Given the description of an element on the screen output the (x, y) to click on. 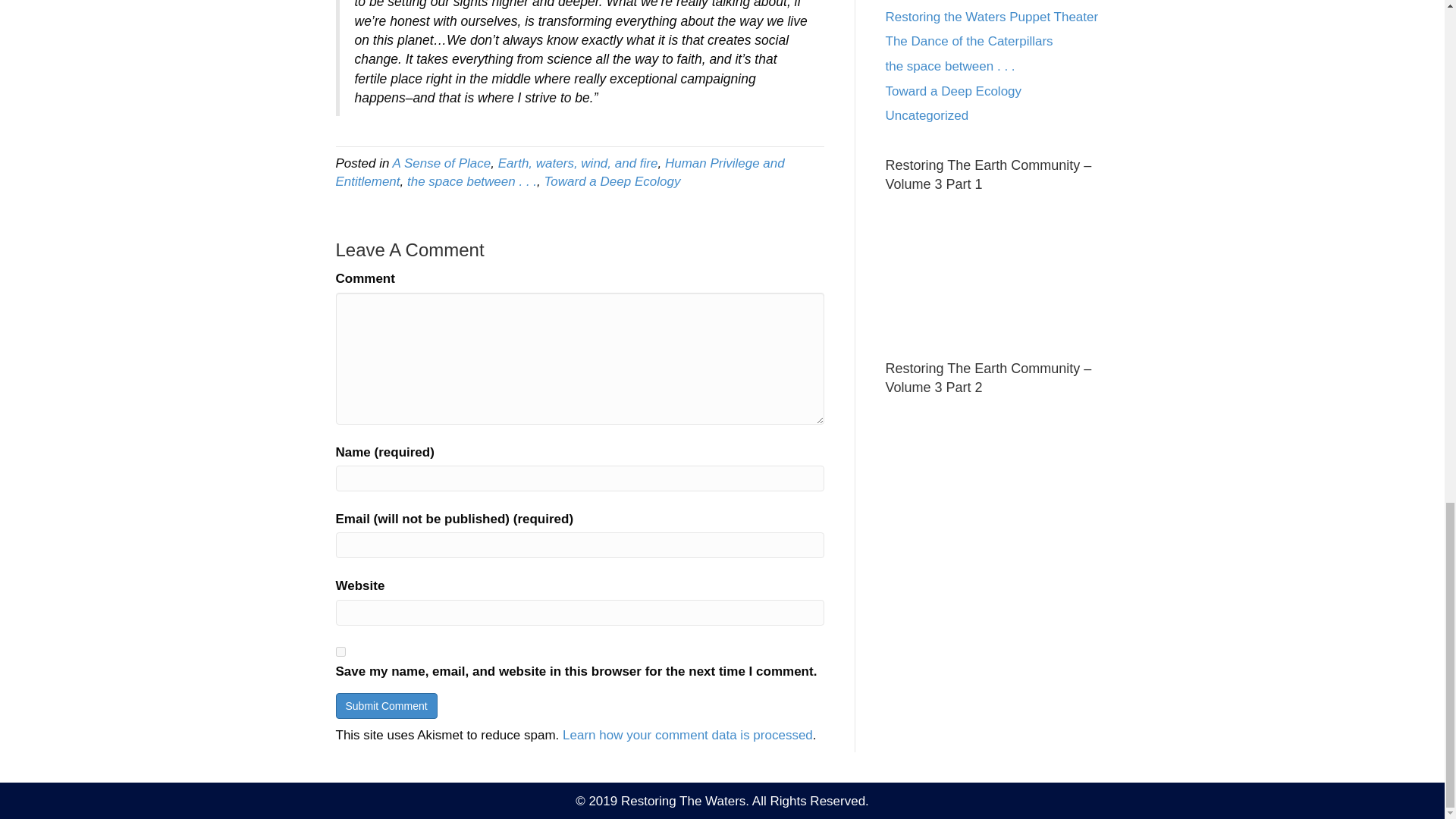
yes (339, 651)
Submit Comment (385, 705)
